Given the description of an element on the screen output the (x, y) to click on. 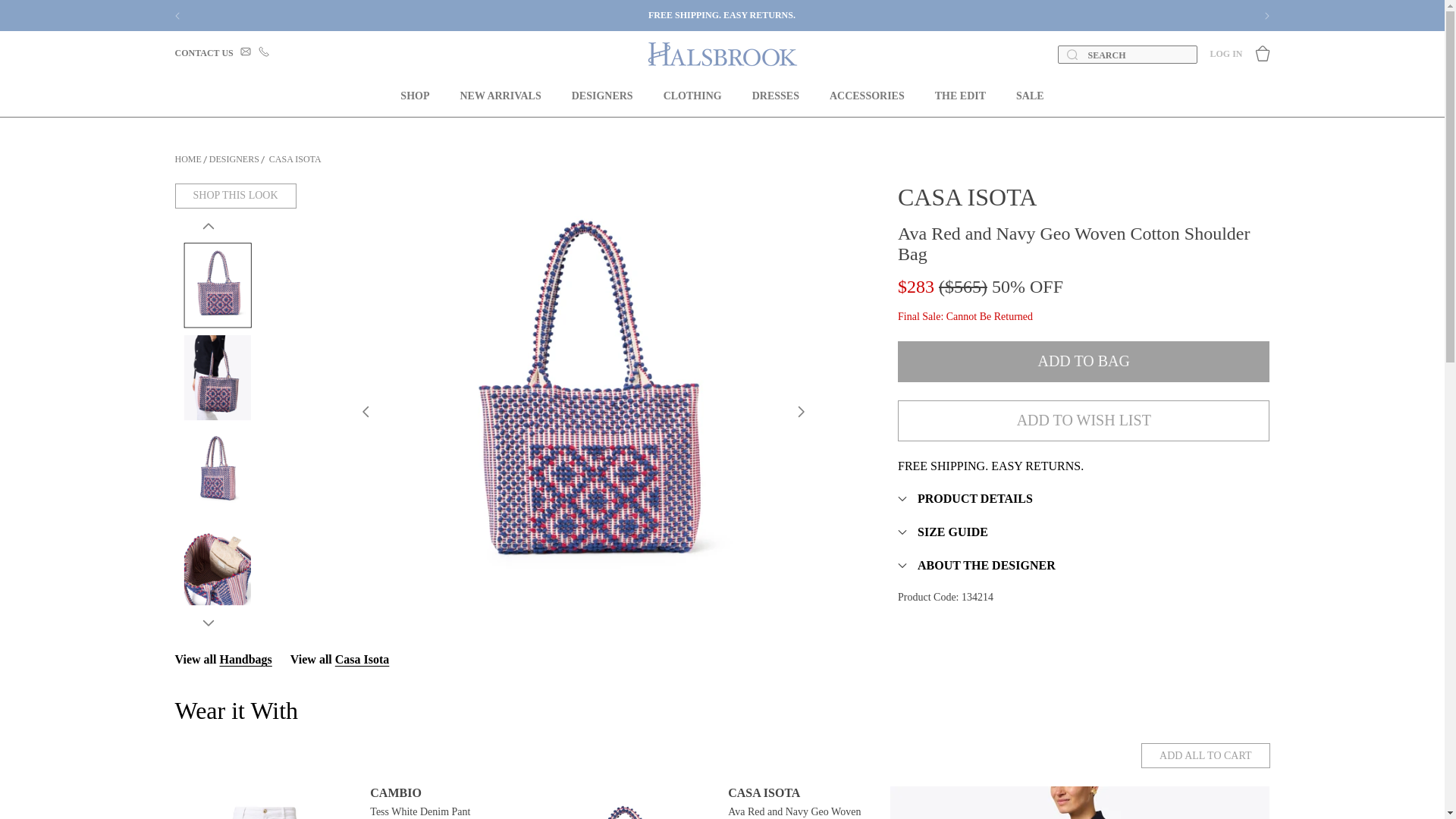
Skip to content (45, 20)
